Given the description of an element on the screen output the (x, y) to click on. 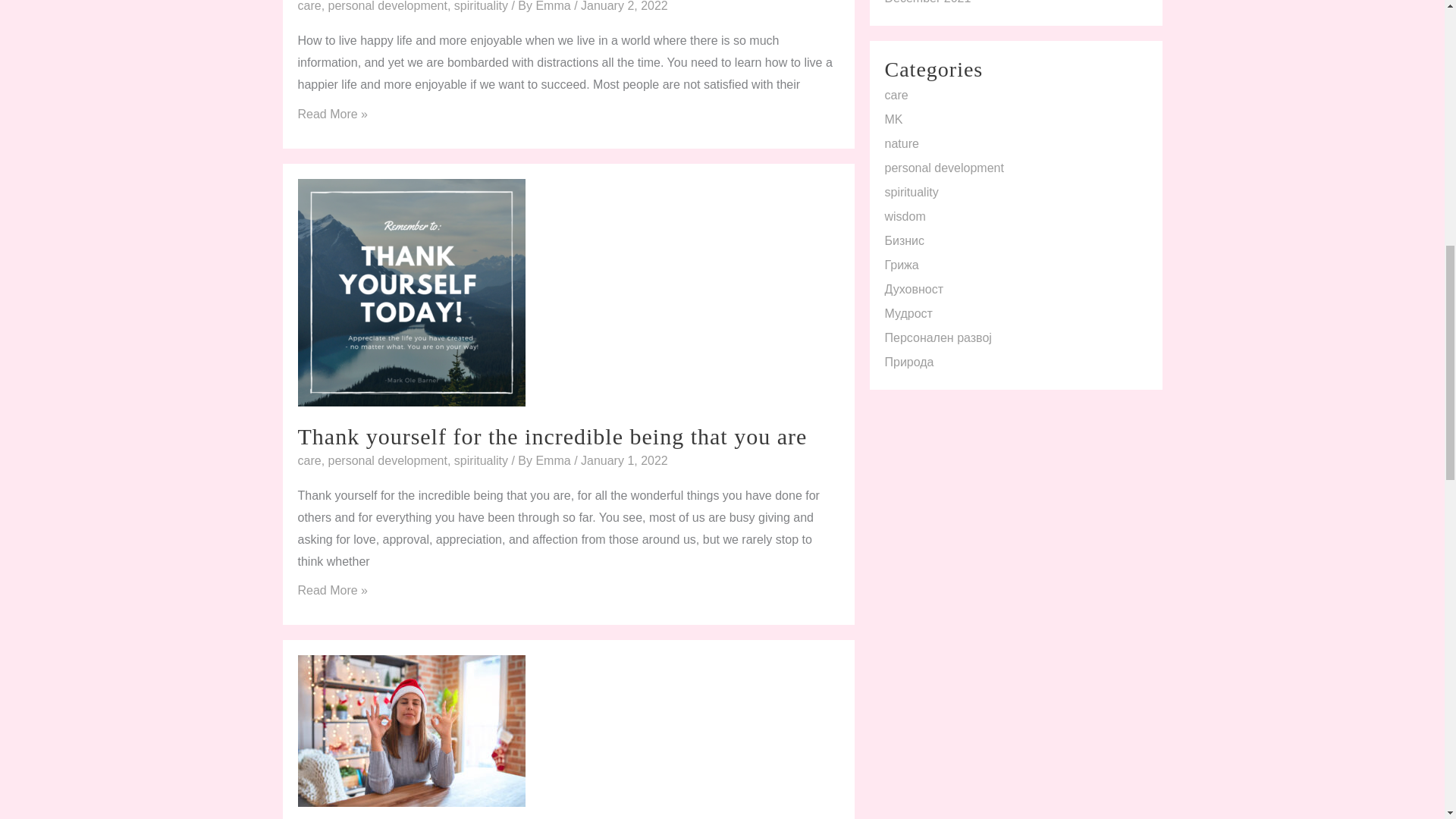
View all posts by Emma (554, 6)
View all posts by Emma (554, 460)
care (308, 6)
